Given the description of an element on the screen output the (x, y) to click on. 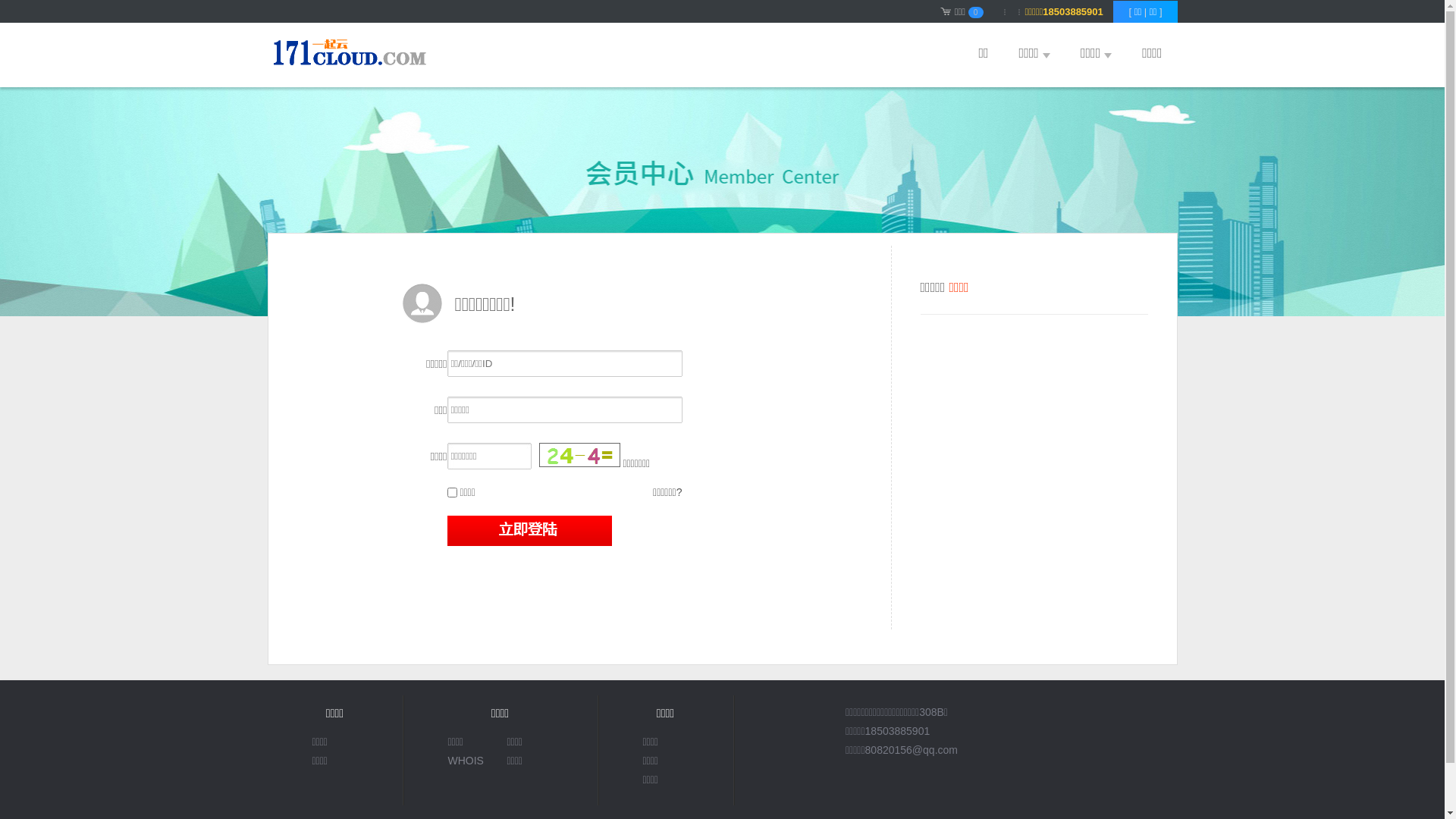
WHOIS Element type: text (469, 760)
0 Element type: text (975, 12)
